Given the description of an element on the screen output the (x, y) to click on. 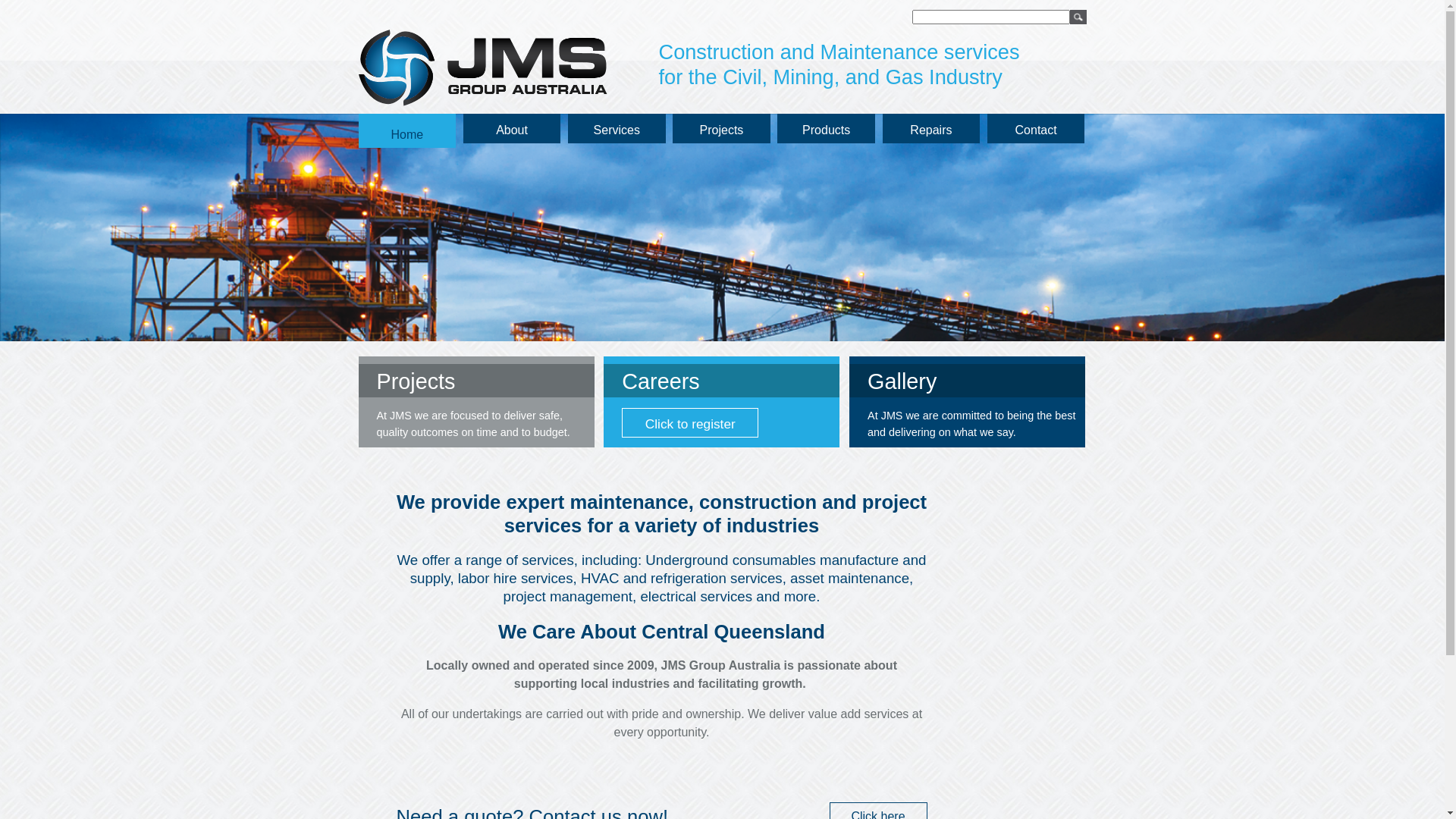
Projects Element type: text (721, 128)
Products Element type: text (826, 128)
About Element type: text (512, 128)
Contact Element type: text (1036, 128)
Repairs Element type: text (931, 128)
Click to register Element type: text (689, 422)
Services Element type: text (616, 128)
Home Element type: text (406, 130)
